Given the description of an element on the screen output the (x, y) to click on. 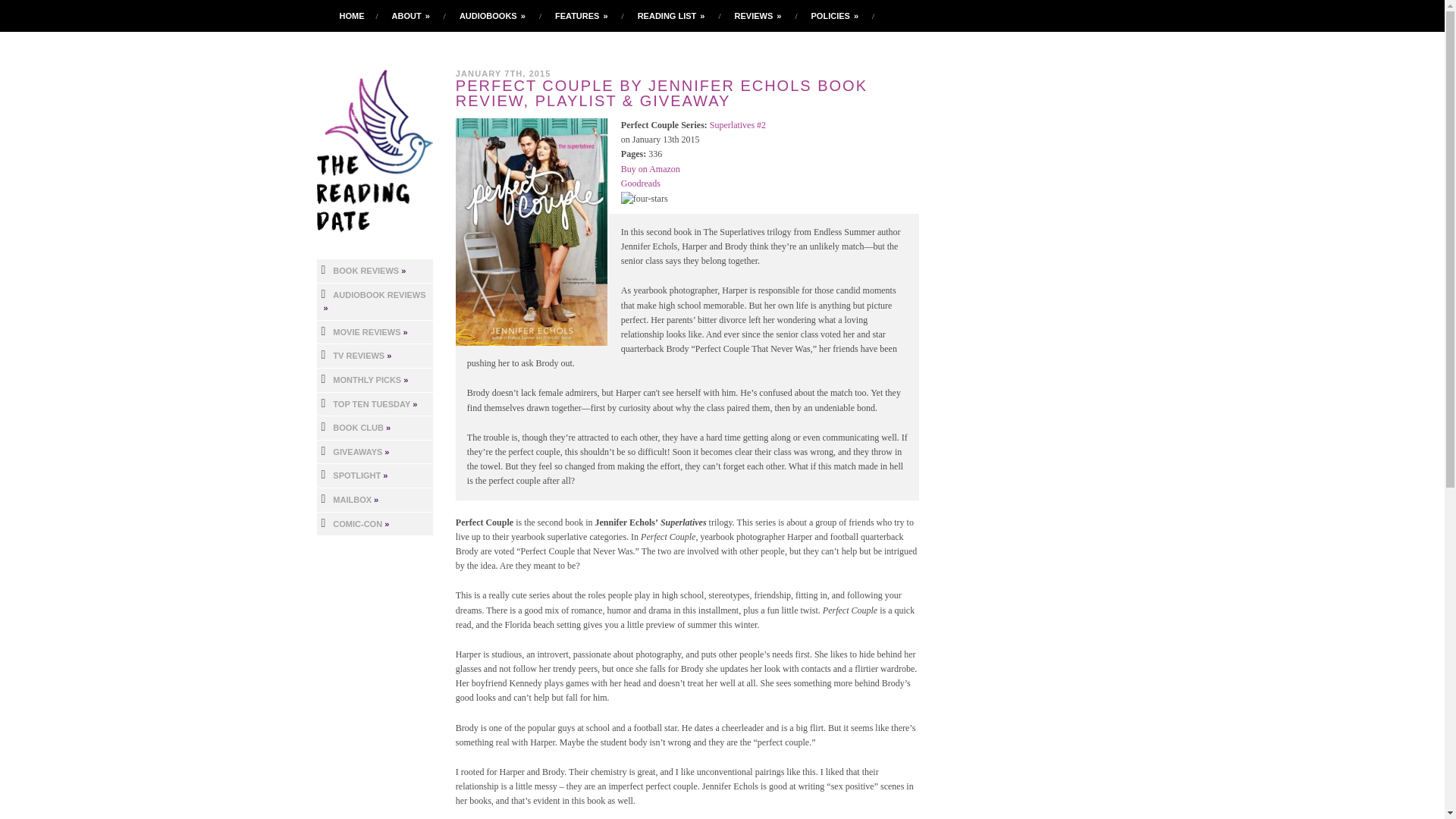
Spotify (1076, 15)
HOME (351, 15)
Tumblr (1061, 15)
RSS (1093, 15)
Facebook (998, 15)
Bloglovin' (1029, 15)
Twitter (981, 15)
Goodreads (1013, 15)
Google Plus (1044, 15)
Email Me (1108, 15)
